Given the description of an element on the screen output the (x, y) to click on. 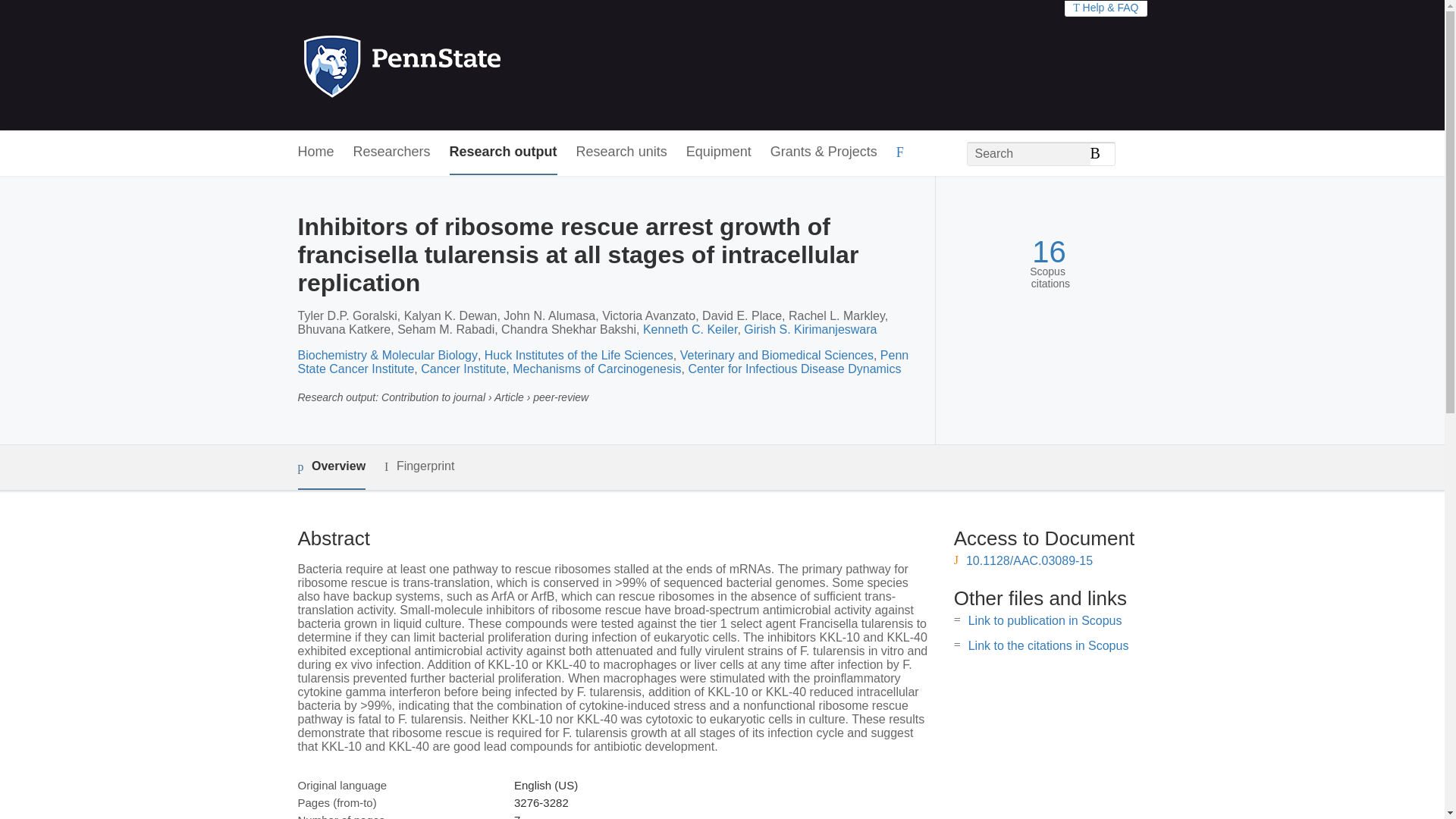
Huck Institutes of the Life Sciences (578, 354)
Link to the citations in Scopus (1048, 645)
Link to publication in Scopus (1045, 620)
Research output (503, 152)
Overview (331, 467)
Penn State Cancer Institute (602, 361)
Veterinary and Biomedical Sciences (776, 354)
Researchers (391, 152)
Girish S. Kirimanjeswara (810, 328)
Research units (621, 152)
16 (1048, 252)
Penn State Home (467, 65)
Kenneth C. Keiler (690, 328)
Equipment (718, 152)
